Given the description of an element on the screen output the (x, y) to click on. 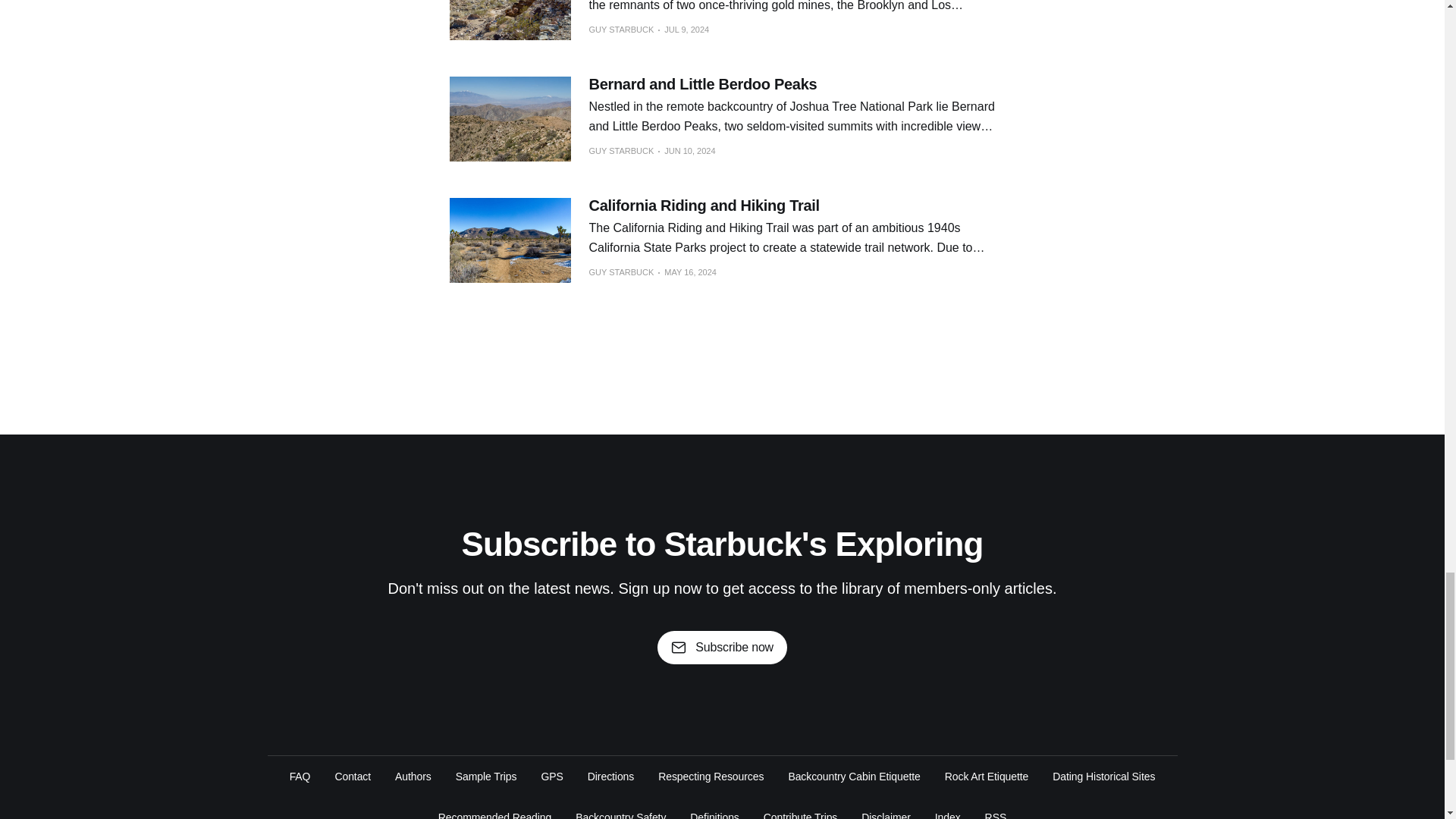
Recommended Reading (494, 814)
Disclaimer (886, 814)
Contribute Trips (799, 814)
Directions (610, 776)
Respecting Resources (710, 776)
Contact (352, 776)
FAQ (300, 776)
Authors (412, 776)
Subscribe now (722, 647)
Definitions (714, 814)
RSS (996, 814)
Backcountry Cabin Etiquette (853, 776)
Backcountry Safety (620, 814)
